Given the description of an element on the screen output the (x, y) to click on. 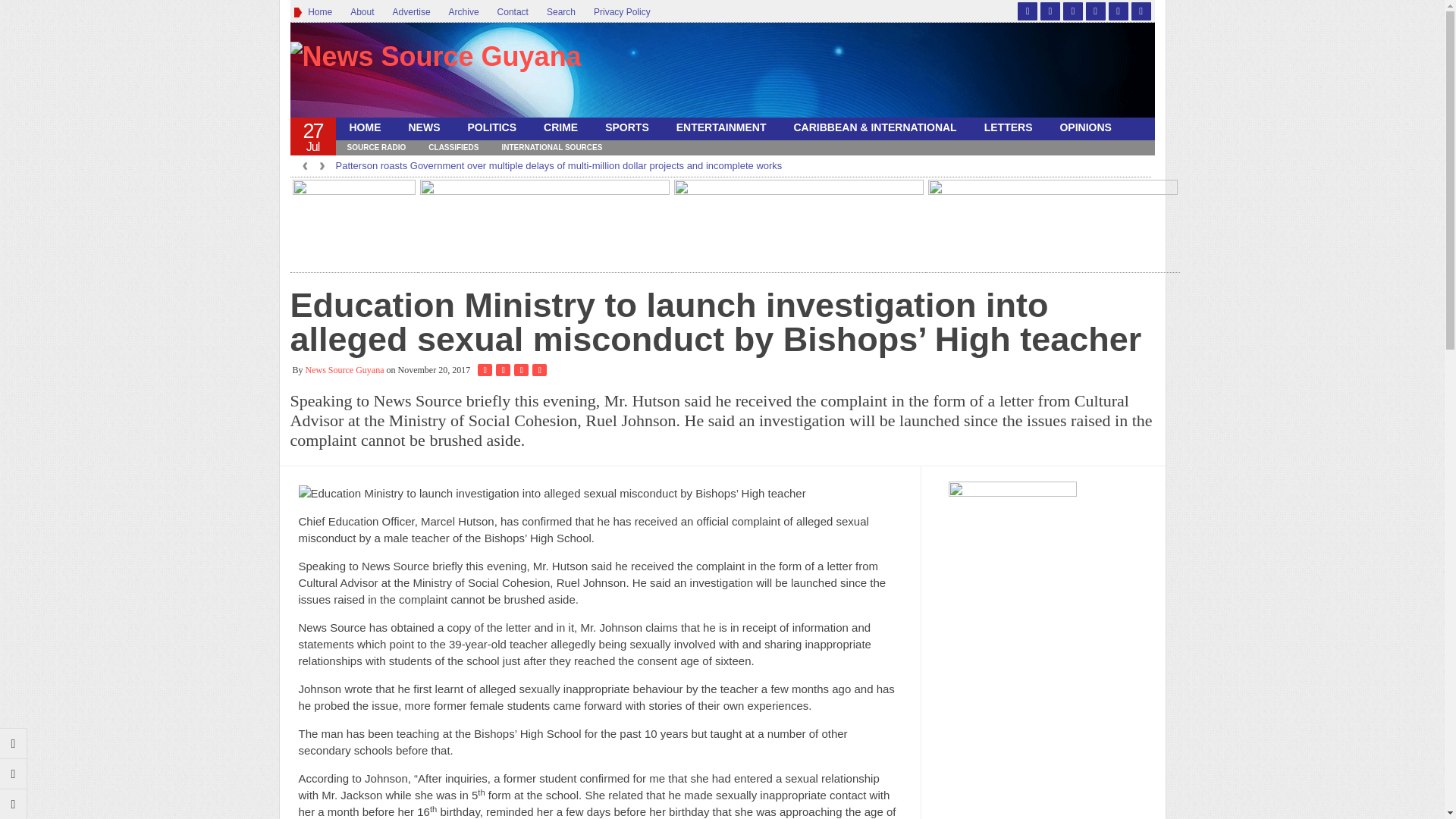
Contact (512, 12)
Advertise (411, 12)
Privacy Policy (622, 12)
SPORTS (626, 127)
CRIME (560, 127)
About (361, 12)
SOURCE RADIO (375, 147)
OPINIONS (1084, 127)
Next post: Mechanic charged for theft of motorcycle (13, 773)
ENTERTAINMENT (721, 127)
CLASSIFIEDS (452, 147)
INTERNATIONAL SOURCES (550, 147)
